Given the description of an element on the screen output the (x, y) to click on. 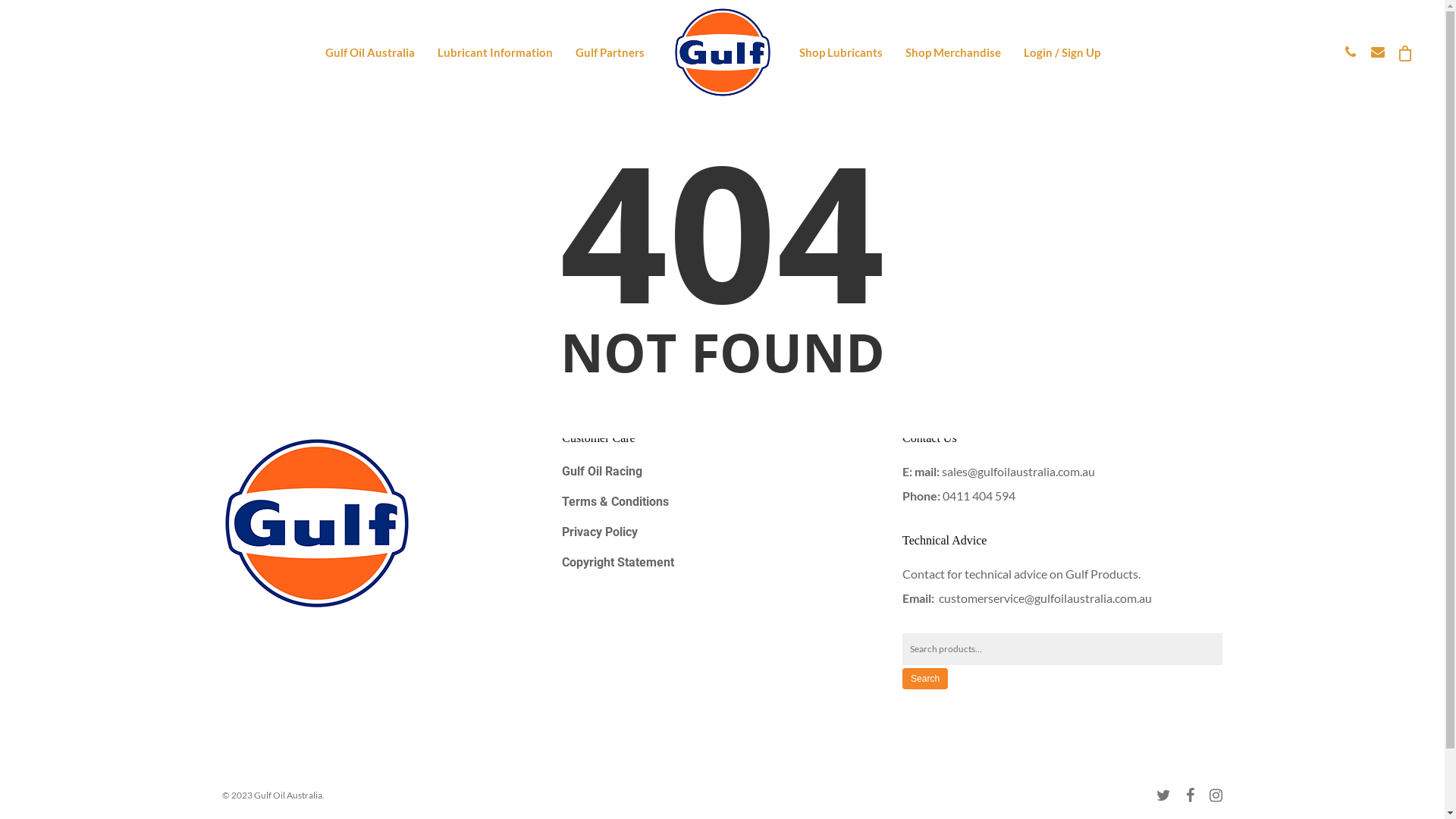
sales@gulfoilaustralia.com.au Element type: text (1018, 471)
Search Element type: text (924, 678)
Shop Lubricants Element type: text (840, 51)
Shop Merchandise Element type: text (952, 51)
Gulf Oil Australia Element type: text (369, 51)
Login / Sign Up Element type: text (1061, 51)
Gulf Oil Racing Element type: text (721, 471)
Copyright Statement Element type: text (721, 562)
Lubricant Information Element type: text (494, 51)
Privacy Policy Element type: text (721, 532)
Gulf Partners Element type: text (609, 51)
customerservice@gulfoilaustralia.com.au Element type: text (1044, 597)
Terms & Conditions Element type: text (721, 501)
